Given the description of an element on the screen output the (x, y) to click on. 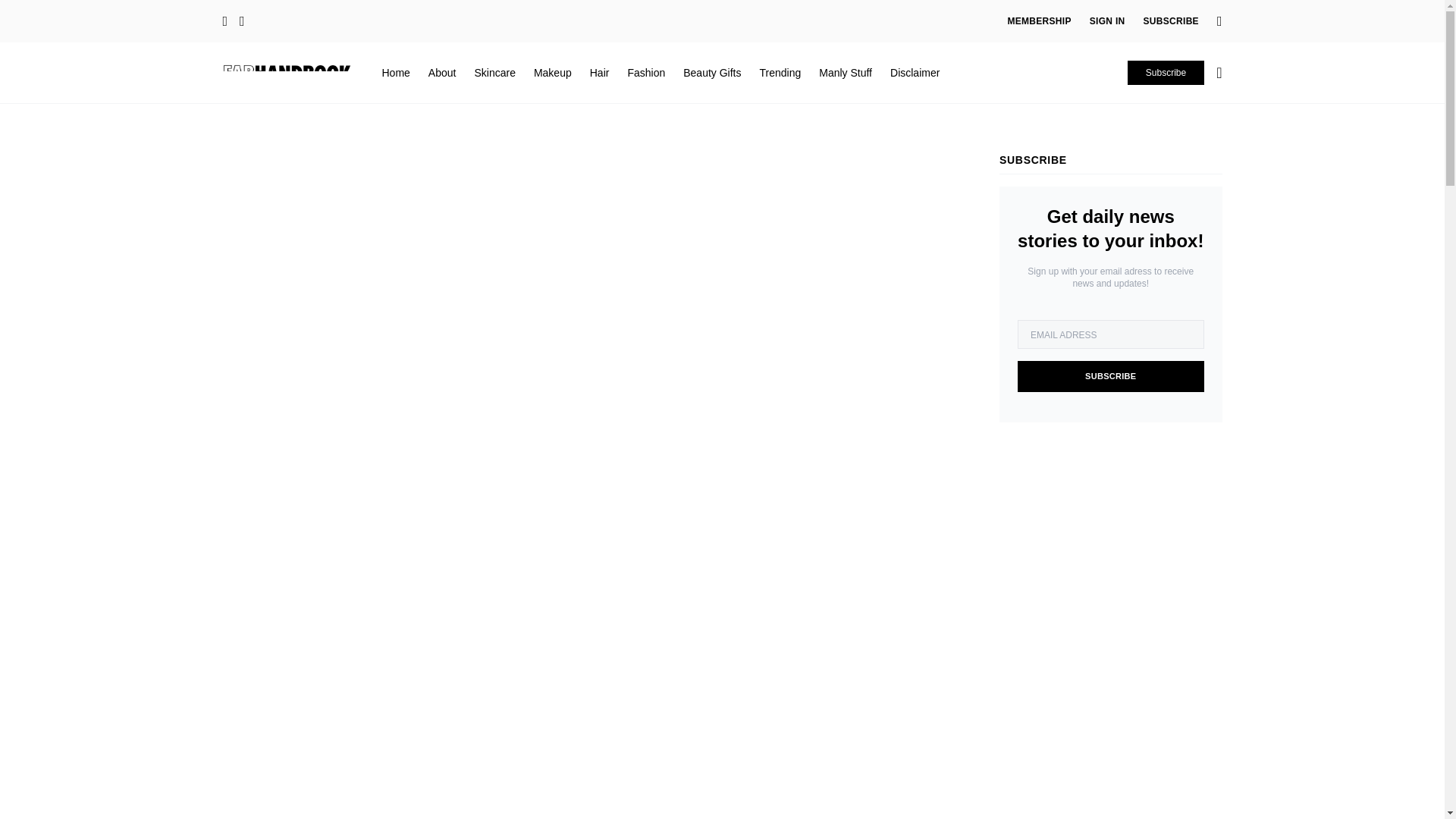
Fashion (646, 72)
Trending (779, 72)
SIGN IN (1107, 21)
About (442, 72)
Beauty Gifts (711, 72)
Skincare (494, 72)
MEMBERSHIP (1038, 21)
SUBSCRIBE (1170, 21)
Home (395, 72)
Makeup (553, 72)
